Given the description of an element on the screen output the (x, y) to click on. 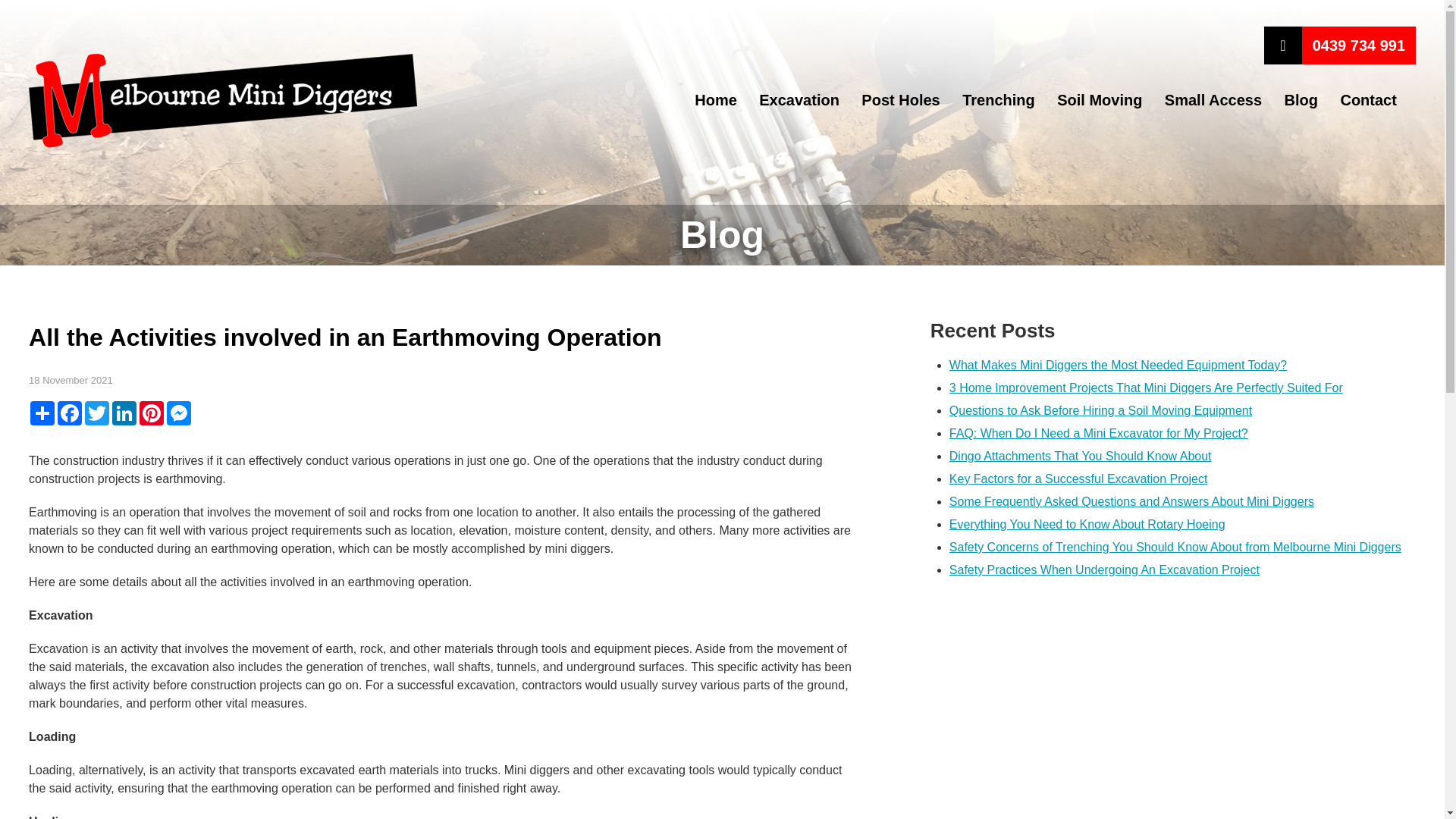
Key Factors for a Successful Excavation Project (1078, 478)
Pinterest (151, 413)
Excavation (799, 99)
Blog (1300, 99)
Messenger (178, 413)
Facebook (69, 413)
Questions to Ask Before Hiring a Soil Moving Equipment (1100, 410)
Trenching (998, 99)
Home (715, 99)
LinkedIn (124, 413)
What Makes Mini Diggers the Most Needed Equipment Today? (1118, 364)
Post Holes (900, 99)
Small Access (1213, 99)
